Given the description of an element on the screen output the (x, y) to click on. 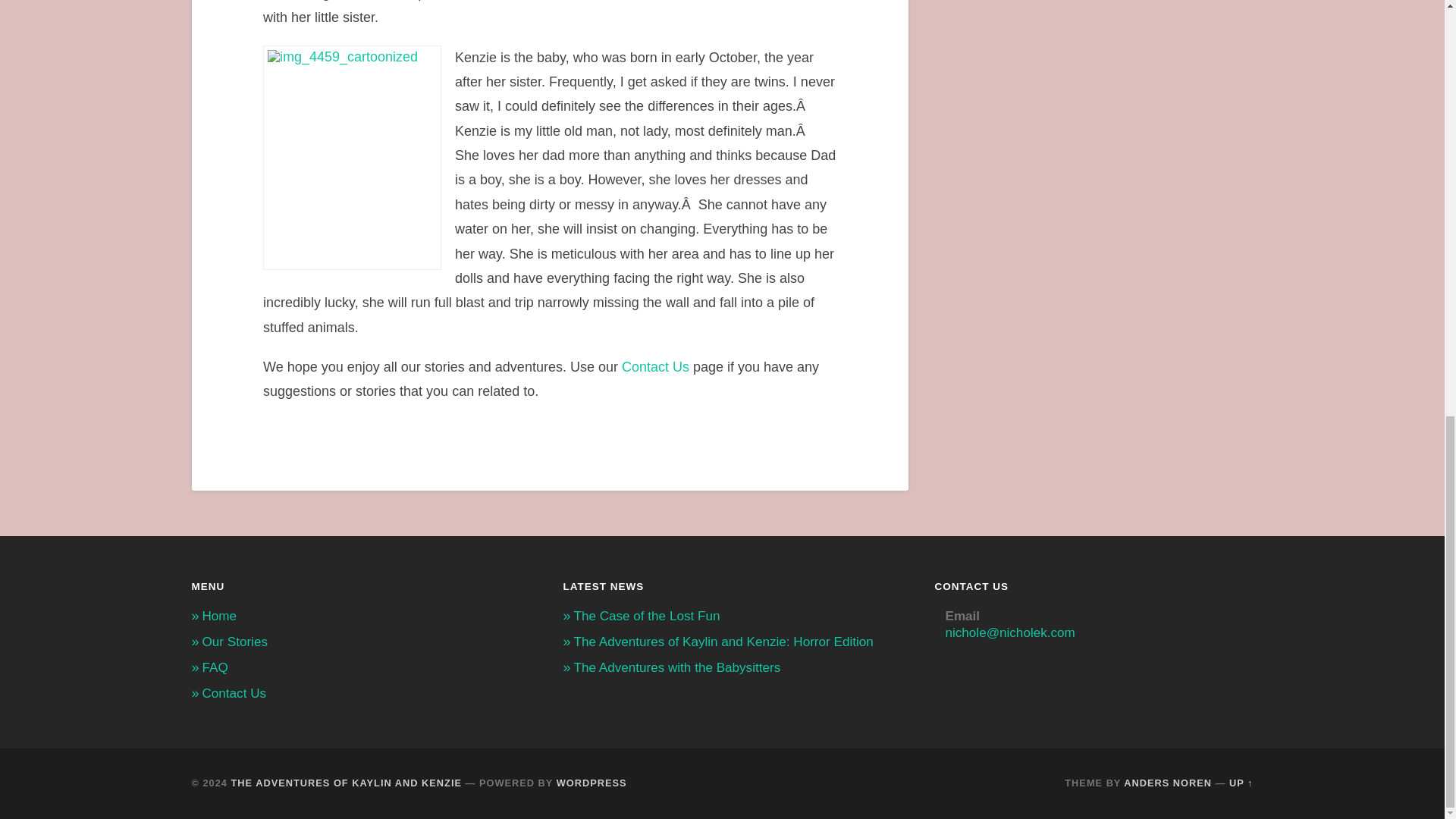
Our Stories (234, 641)
The Adventures with the Babysitters (676, 667)
Contact Us (654, 366)
Contact Us (654, 366)
Contact Us (234, 693)
The Adventures of Kaylin and Kenzie: Horror Edition (722, 641)
ANDERS NOREN (1167, 782)
Home (218, 616)
WORDPRESS (591, 782)
FAQ (214, 667)
THE ADVENTURES OF KAYLIN AND KENZIE (346, 782)
The Case of the Lost Fun (646, 616)
